Given the description of an element on the screen output the (x, y) to click on. 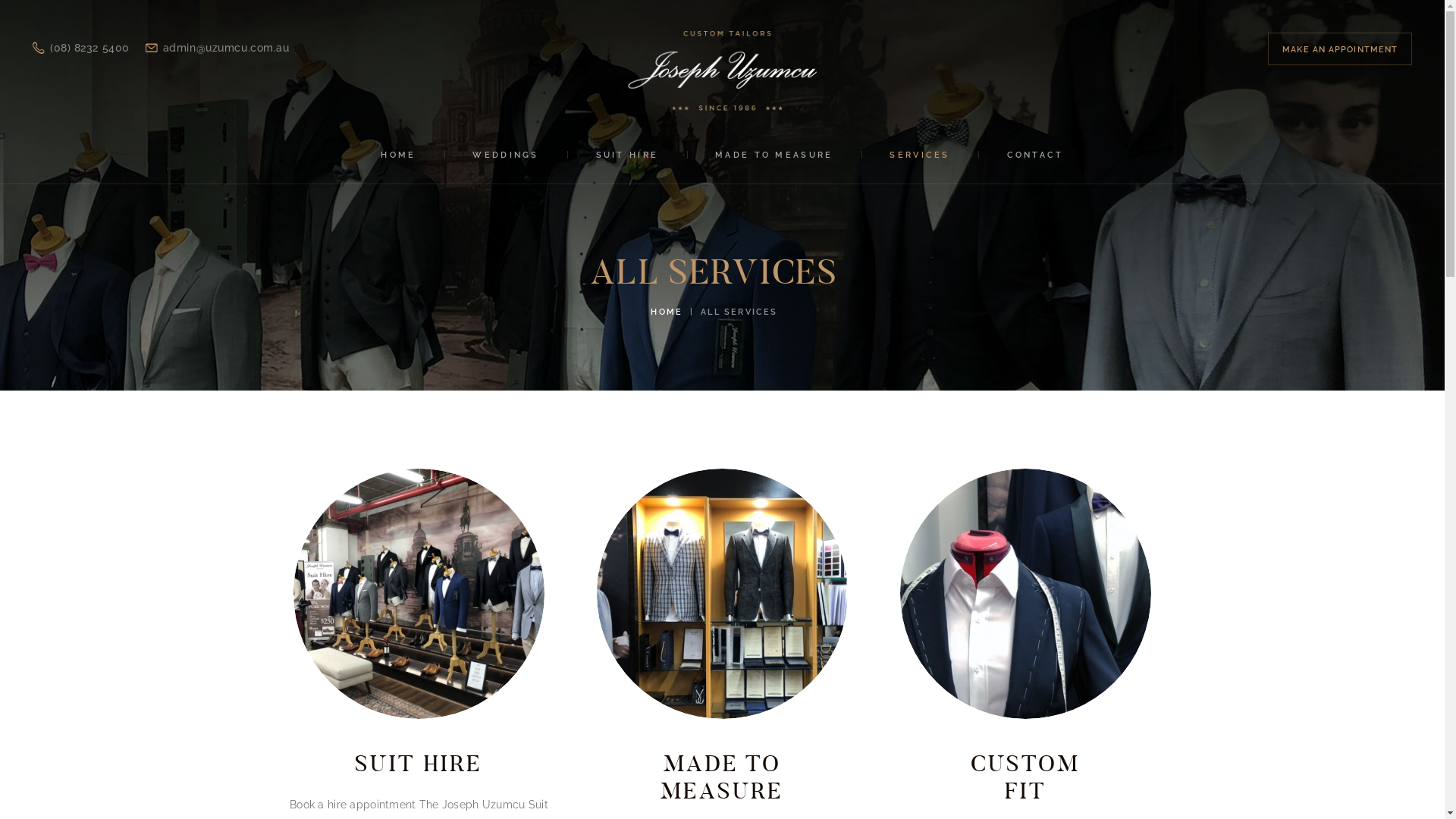
WEDDINGS Element type: text (505, 155)
MADE TO MEASURE Element type: text (774, 155)
SUIT HIRE Element type: text (419, 763)
HOME Element type: text (666, 311)
MADE TO
MEASURE Element type: text (722, 776)
CUSTOM
FIT Element type: text (1025, 776)
admin@uzumcu.com.au Element type: text (217, 48)
SERVICES Element type: text (919, 155)
MAKE AN APPOINTMENT Element type: text (1339, 48)
CONTACT Element type: text (1035, 155)
HOME Element type: text (398, 155)
SUIT HIRE Element type: text (626, 155)
